Given the description of an element on the screen output the (x, y) to click on. 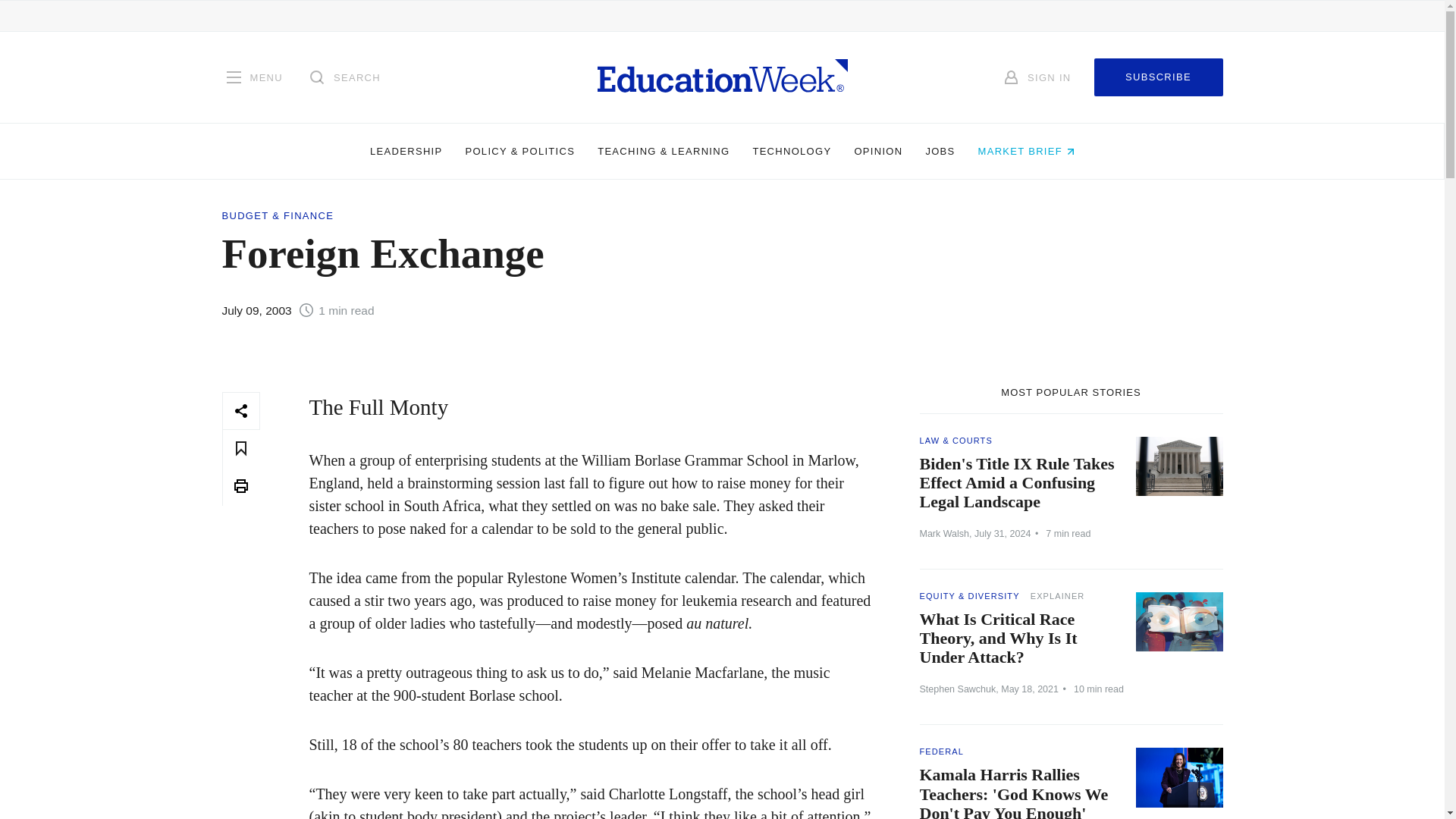
Homepage (721, 76)
